Given the description of an element on the screen output the (x, y) to click on. 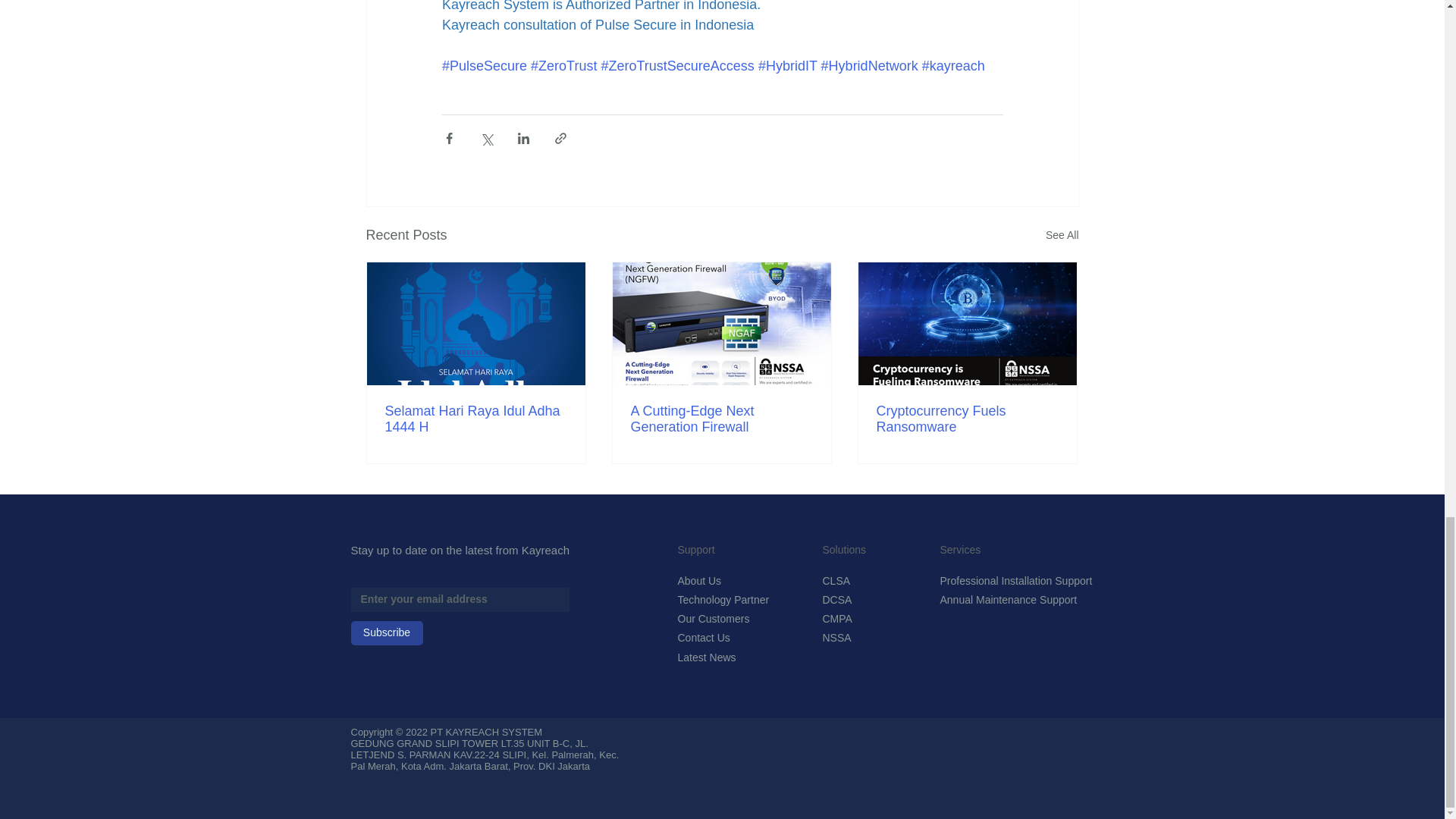
Subscribe (386, 632)
Contact Us (723, 638)
Selamat Hari Raya Idul Adha 1444 H (476, 418)
A Cutting-Edge Next Generation Firewall (721, 418)
Latest News (723, 657)
Cryptocurrency Fuels Ransomware (967, 418)
Technology Partner (724, 600)
Our Customers (723, 619)
About Us (703, 581)
See All (1061, 235)
